Given the description of an element on the screen output the (x, y) to click on. 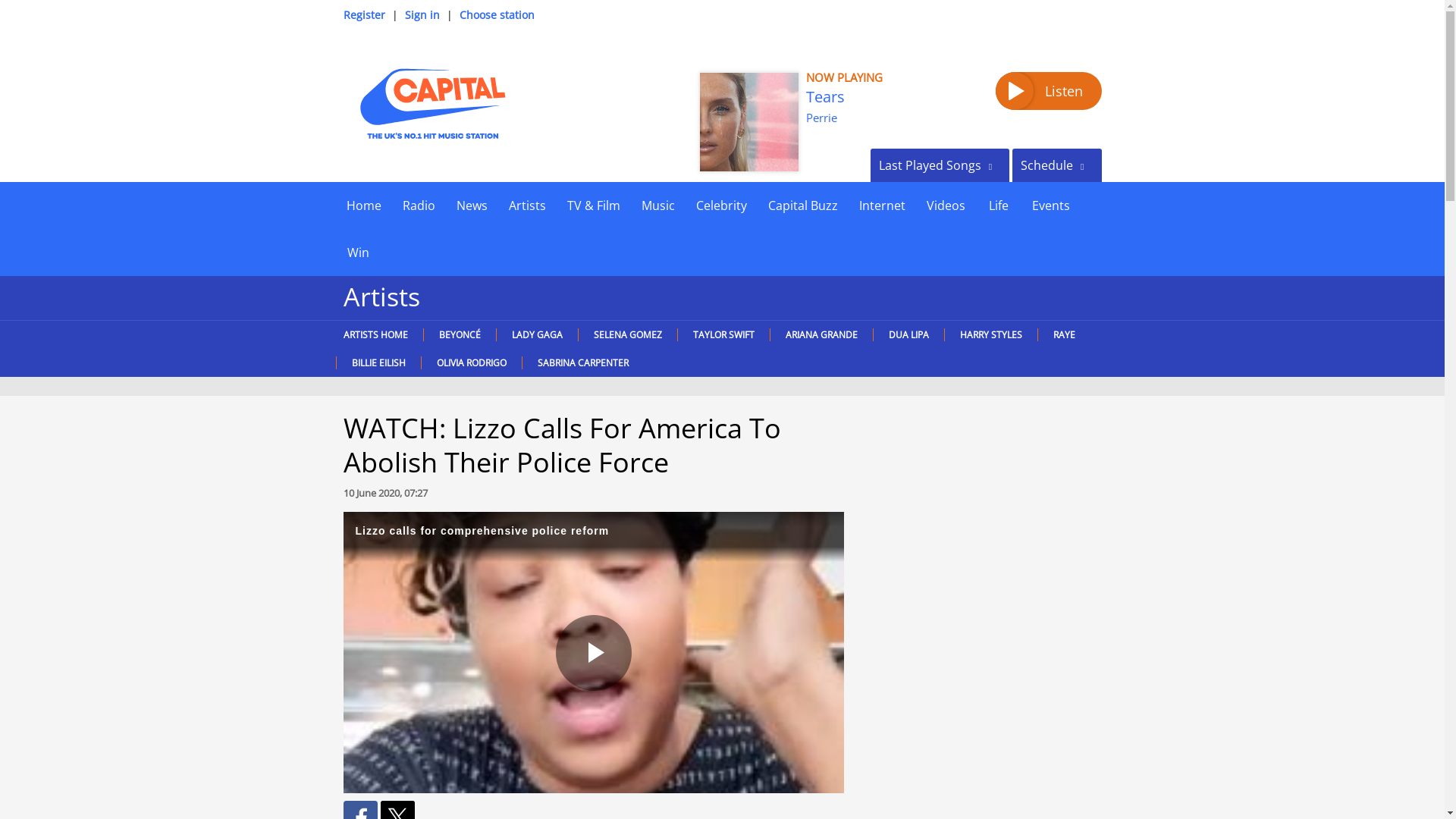
Videos (945, 205)
Events (1050, 205)
Life (997, 205)
Register (363, 14)
Capital (431, 103)
ARTISTS HOME (378, 334)
ARIANA GRANDE (820, 334)
Capital Buzz (802, 205)
Artists (526, 205)
Last Played Songs (939, 164)
TAYLOR SWIFT (722, 334)
Music (657, 205)
Sign in (421, 14)
SELENA GOMEZ (627, 334)
HARRY STYLES (989, 334)
